Given the description of an element on the screen output the (x, y) to click on. 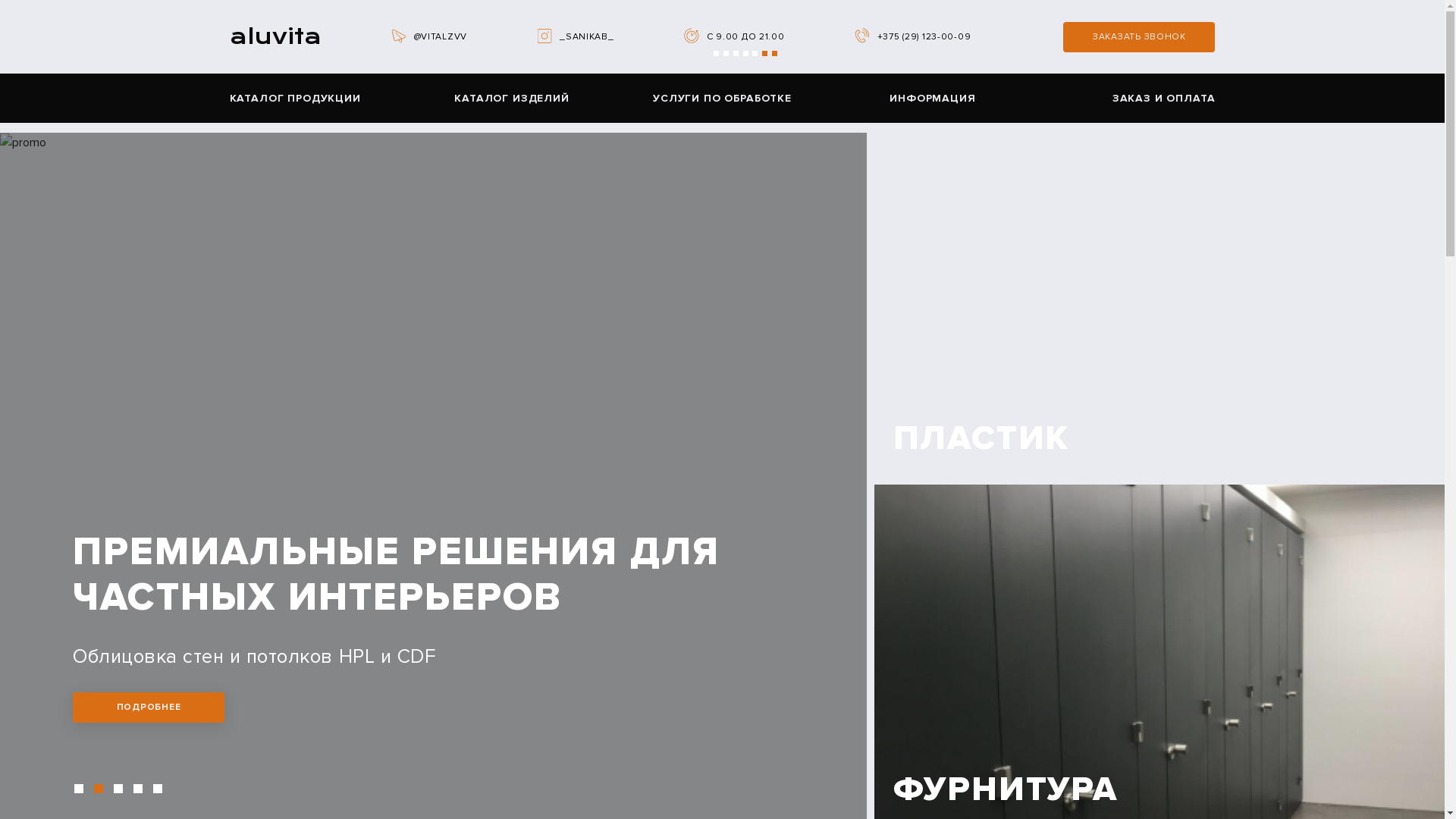
@VITALZVV Element type: text (440, 36)
aluvita Element type: text (274, 36)
+375 (29) 123-00-09 Element type: text (924, 36)
_SANIKAB_ Element type: text (586, 36)
